Given the description of an element on the screen output the (x, y) to click on. 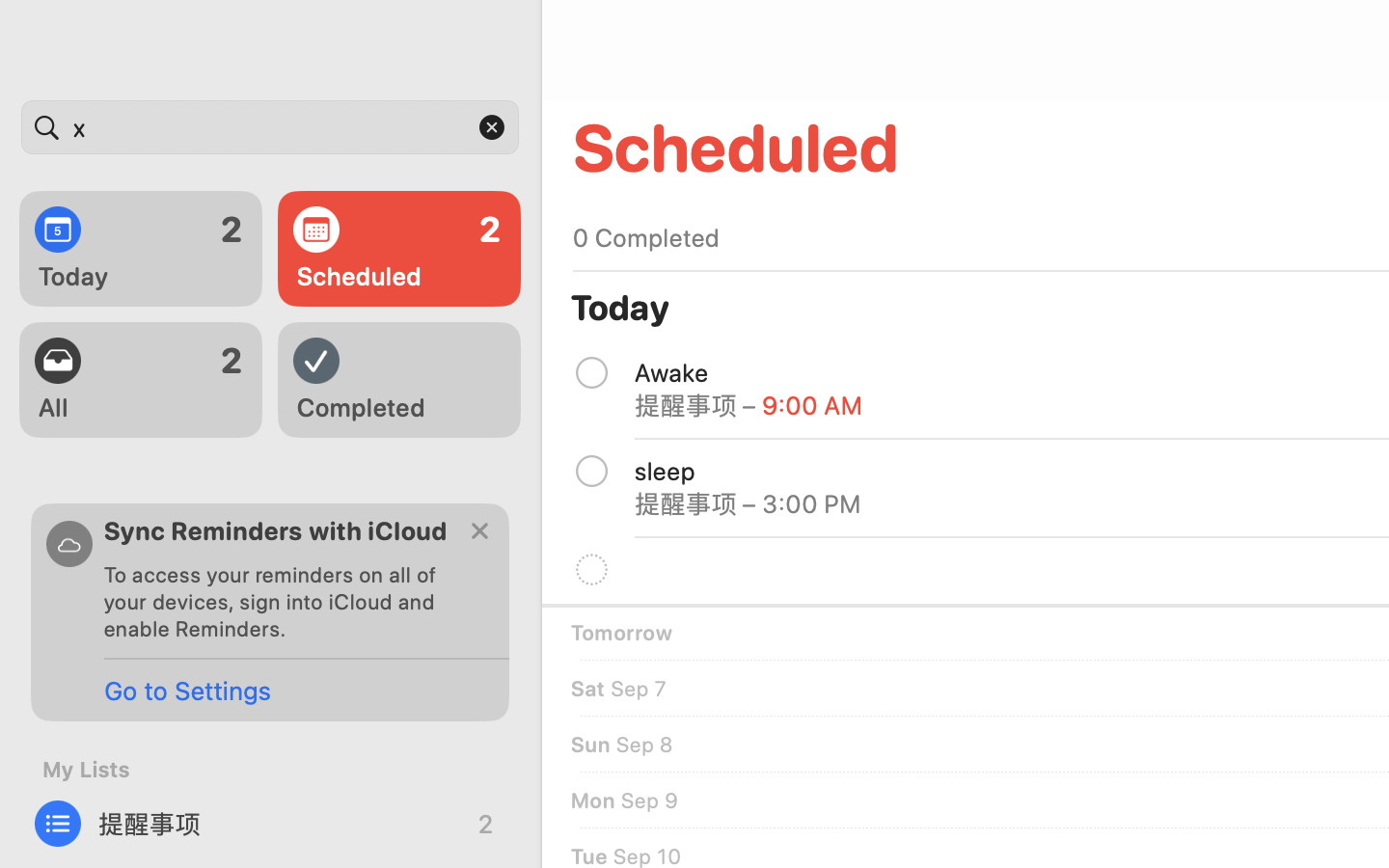
x Element type: AXTextField (269, 127)
提醒事项 Element type: AXTextField (270, 823)
Sync Reminders with iCloud Element type: AXStaticText (275, 530)
提醒事项 – 9:00 AM Element type: AXStaticText (748, 404)
